Given the description of an element on the screen output the (x, y) to click on. 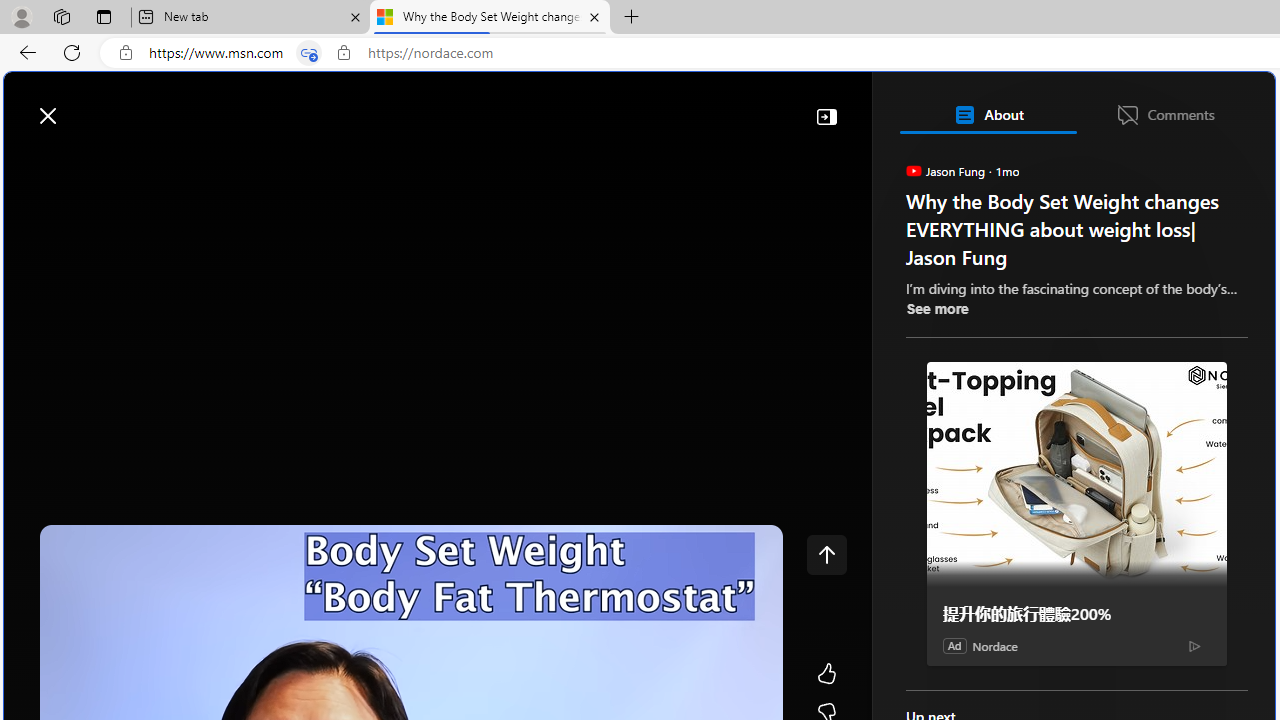
Ad Choice (1193, 645)
Tabs in split screen (308, 53)
Watch (249, 162)
Watch (257, 162)
Notifications (1190, 105)
Personalize (1195, 162)
Open Copilot (995, 105)
Nordace.com (1016, 439)
